Given the description of an element on the screen output the (x, y) to click on. 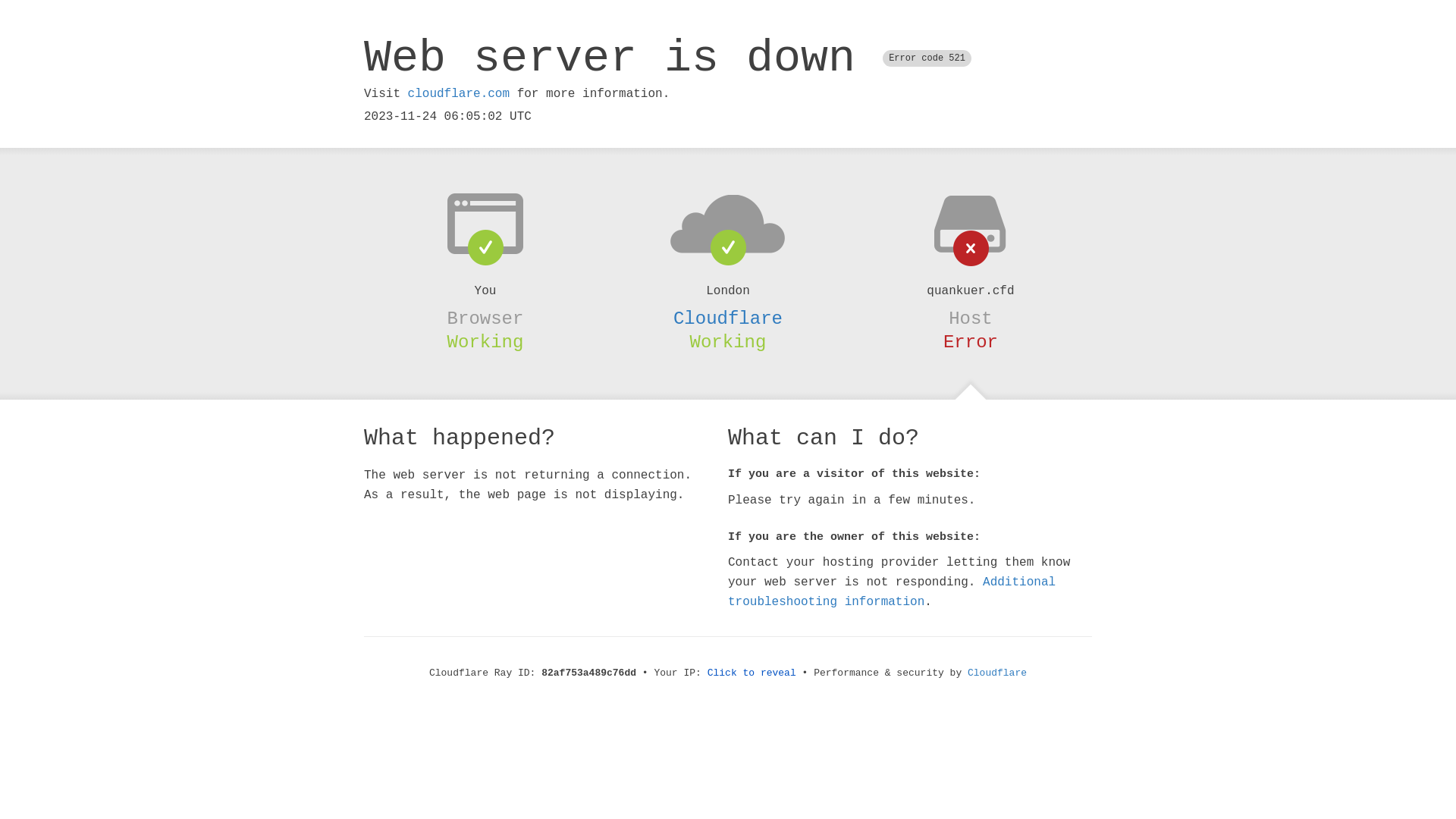
Cloudflare Element type: text (727, 318)
Click to reveal Element type: text (751, 672)
cloudflare.com Element type: text (458, 93)
Additional troubleshooting information Element type: text (891, 591)
Cloudflare Element type: text (996, 672)
